Given the description of an element on the screen output the (x, y) to click on. 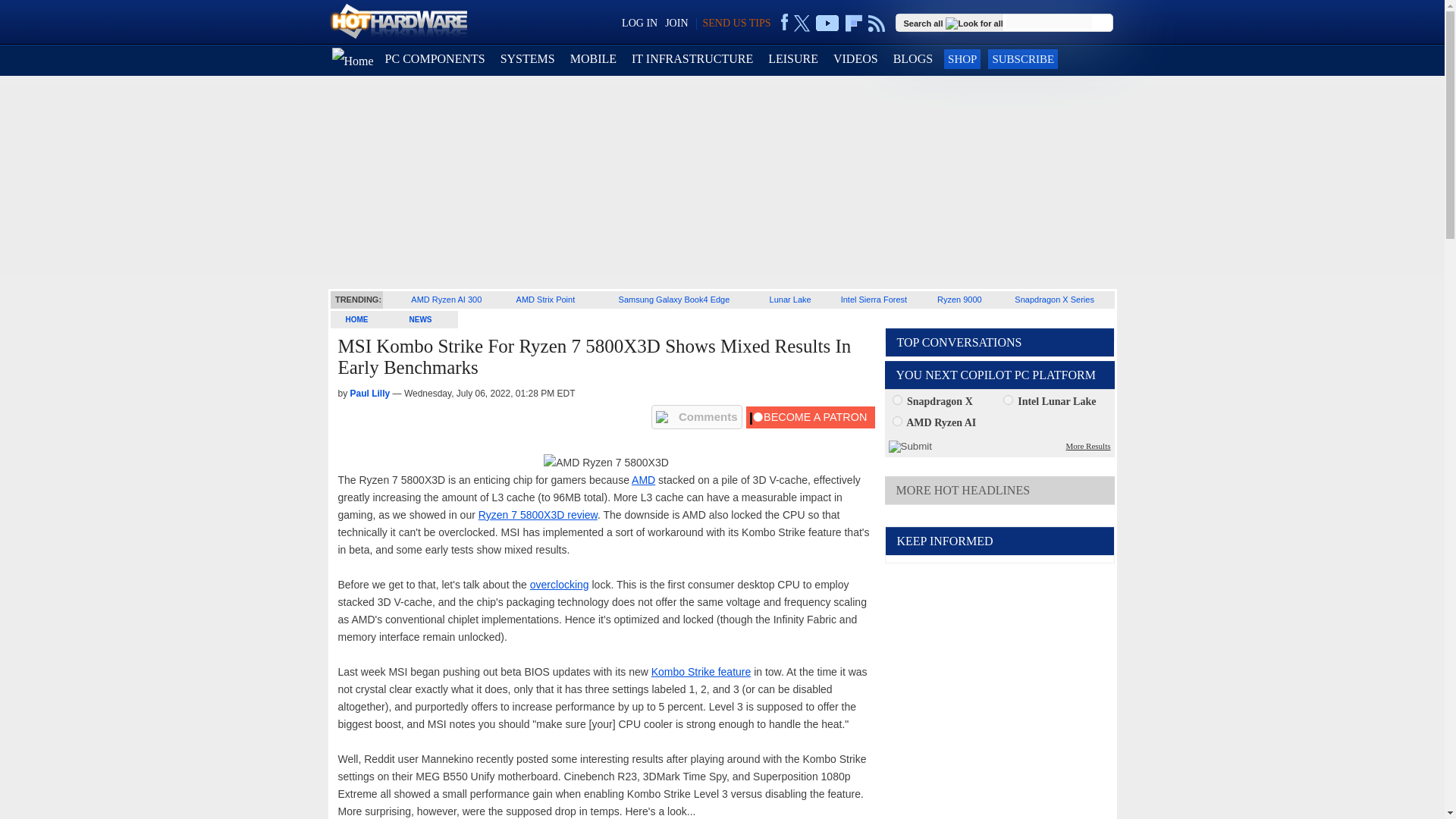
Blogs (912, 58)
keyword (1049, 21)
SEND US TIPS (735, 22)
SIGN OUT (39, 18)
PC COMPONENTS (435, 58)
Go (1103, 22)
LOG IN (639, 22)
Search all (955, 22)
757 (896, 399)
JOIN (676, 22)
Comments (696, 416)
759 (896, 420)
758 (1008, 399)
Go (1103, 22)
Go (1103, 22)
